Given the description of an element on the screen output the (x, y) to click on. 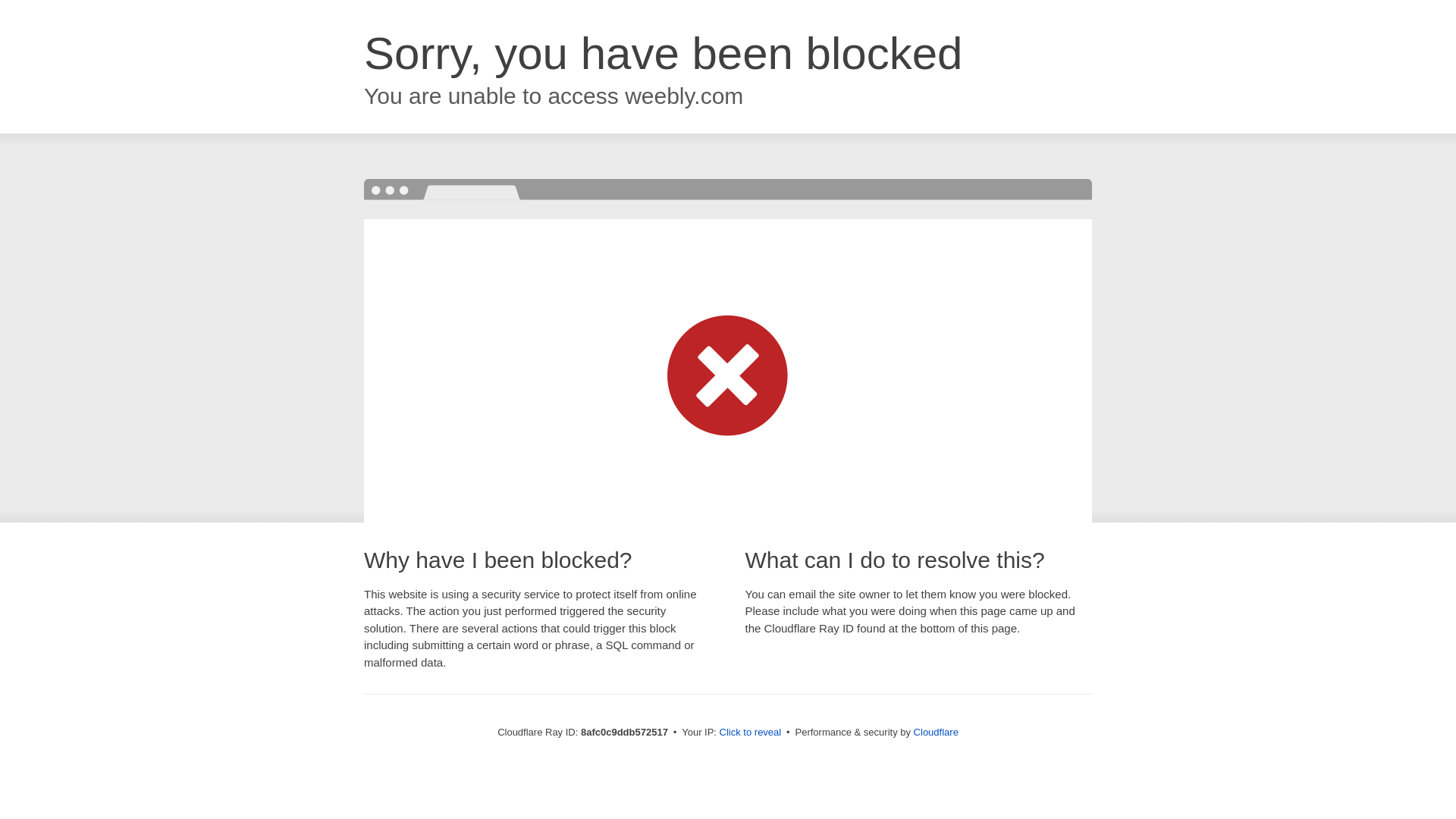
Click to reveal (750, 732)
Cloudflare (936, 731)
